Given the description of an element on the screen output the (x, y) to click on. 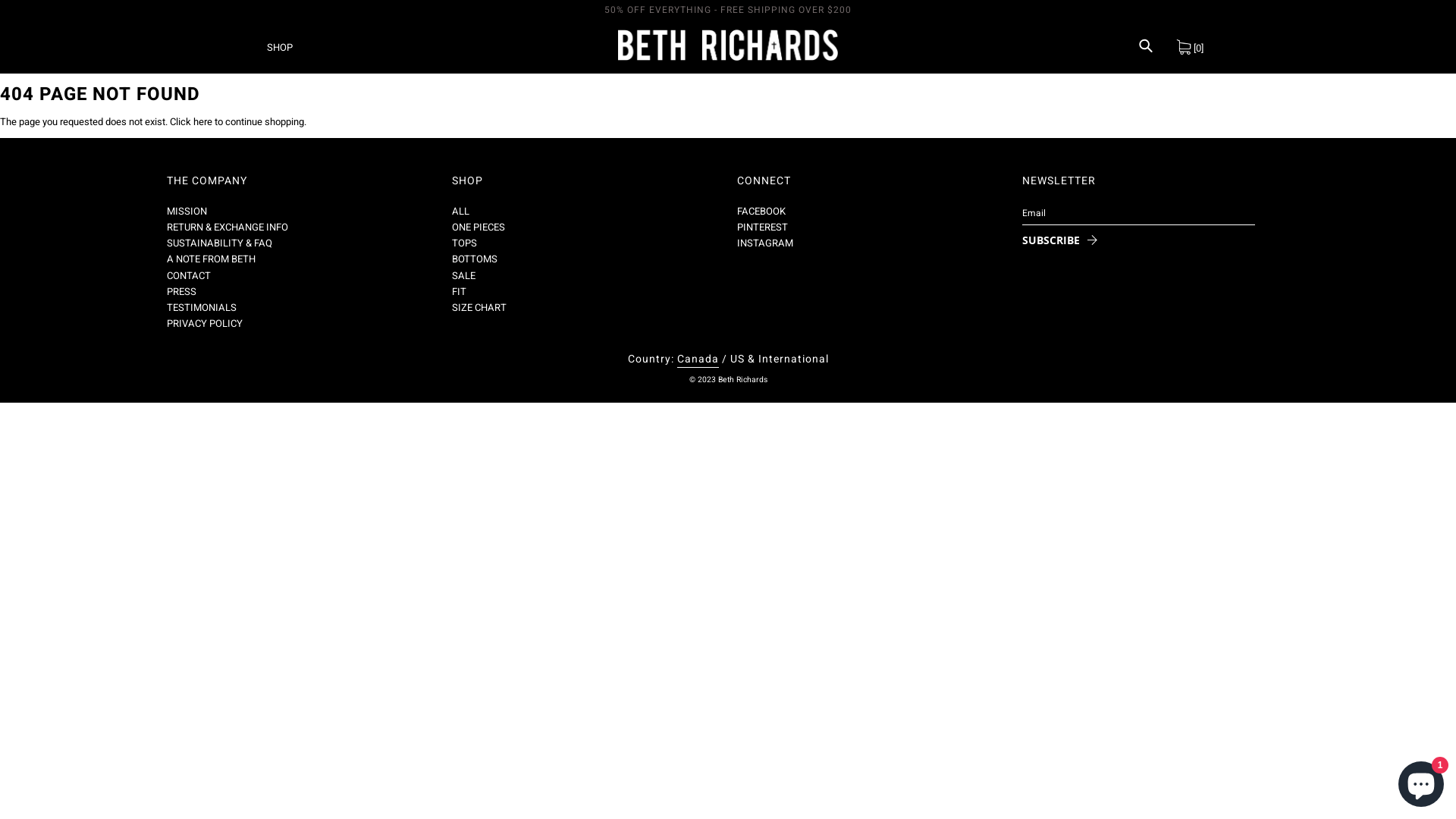
FIT Element type: text (458, 291)
FACEBOOK Element type: text (761, 210)
Shopify online store chat Element type: hover (1420, 780)
SUBSCRIBE Element type: text (1054, 240)
PINTEREST Element type: text (762, 226)
MISSION Element type: text (186, 210)
A NOTE FROM BETH Element type: text (210, 258)
SHOP Element type: text (279, 46)
here Element type: text (202, 121)
TESTIMONIALS Element type: text (201, 307)
ONE PIECES Element type: text (478, 226)
US & International Element type: text (778, 359)
SIZE CHART Element type: text (478, 307)
SUSTAINABILITY & FAQ Element type: text (219, 242)
ALL Element type: text (460, 210)
PRIVACY POLICY Element type: text (204, 323)
Canada Element type: text (697, 359)
RETURN & EXCHANGE INFO Element type: text (227, 226)
CONTACT Element type: text (188, 275)
[0] Element type: text (1189, 46)
INSTAGRAM Element type: text (765, 242)
SALE Element type: text (463, 275)
TOPS Element type: text (463, 242)
PRESS Element type: text (181, 291)
BOTTOMS Element type: text (474, 258)
